Given the description of an element on the screen output the (x, y) to click on. 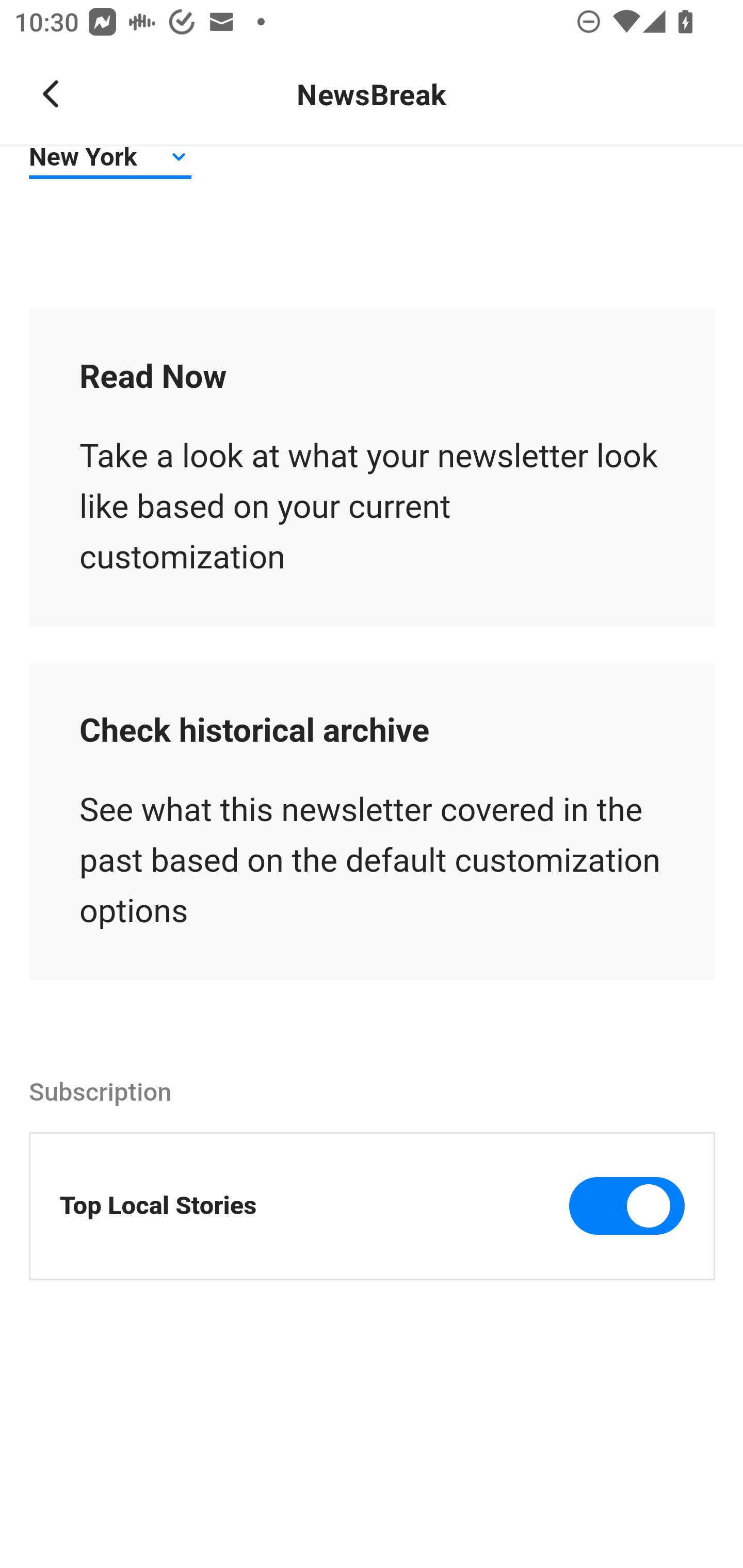
Navigate up (50, 93)
New York (110, 161)
